Given the description of an element on the screen output the (x, y) to click on. 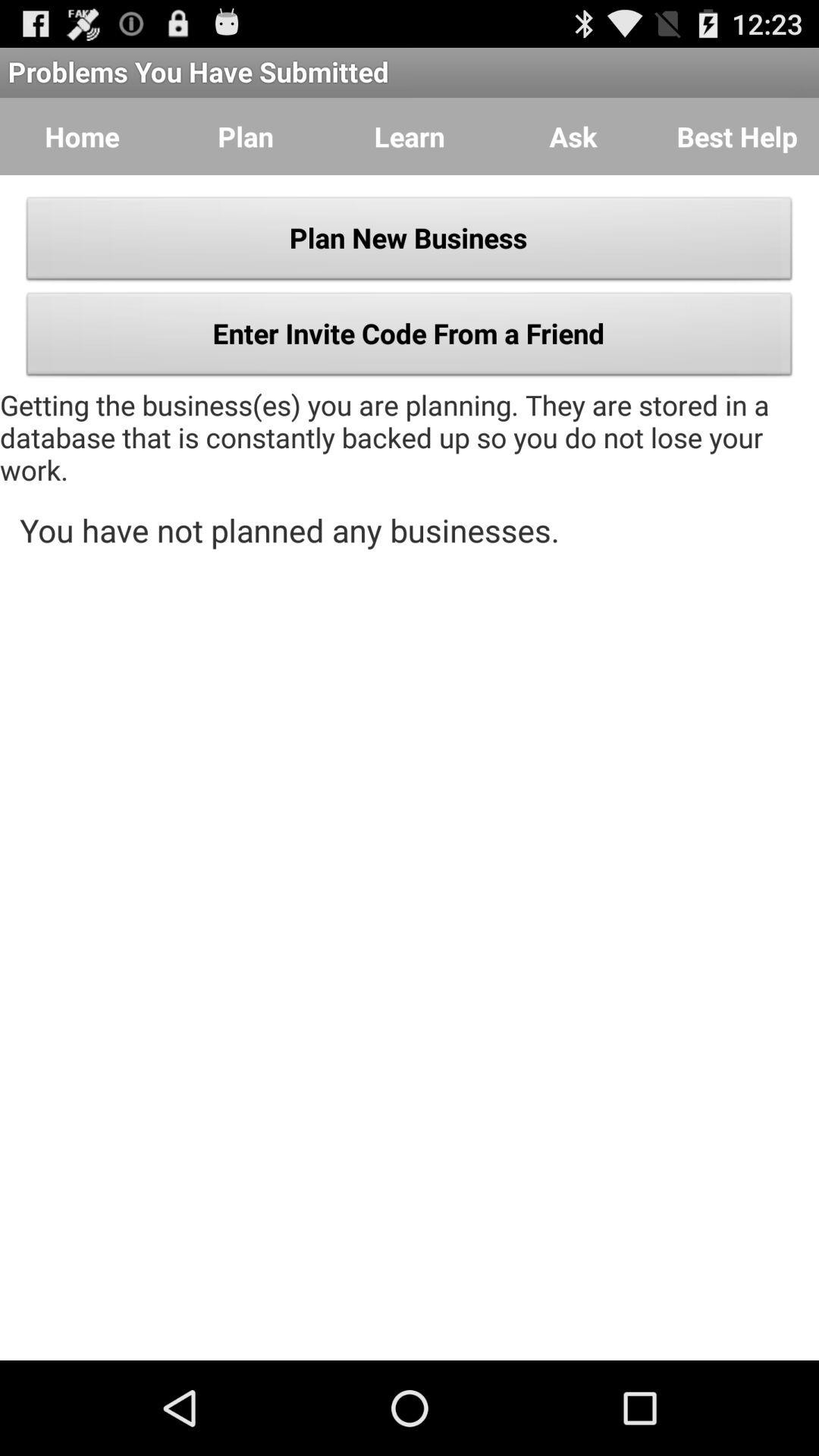
choose item next to the plan icon (409, 136)
